Given the description of an element on the screen output the (x, y) to click on. 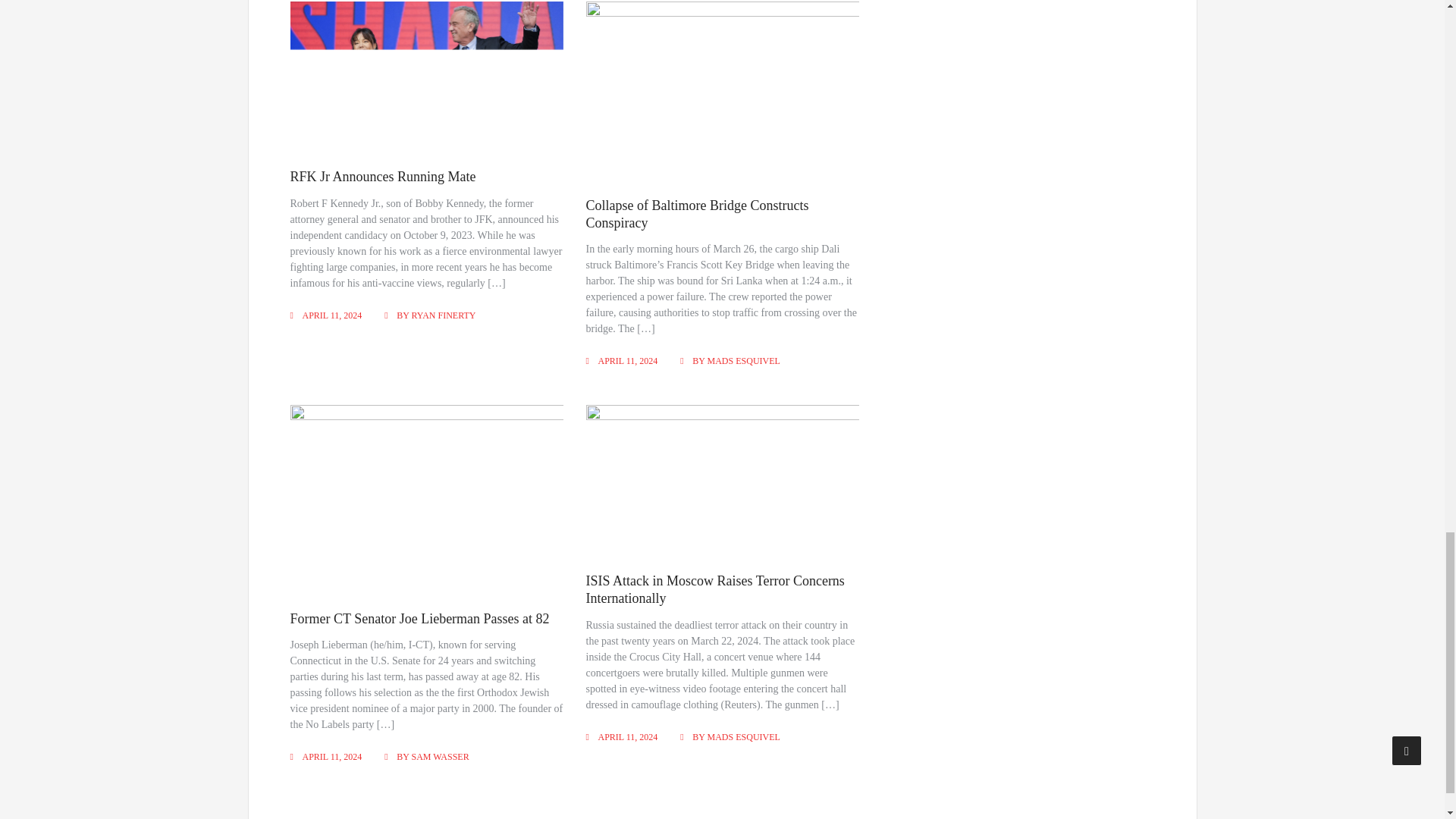
APRIL 11, 2024 (331, 315)
APRIL 11, 2024 (628, 360)
RFK Jr Announces Running Mate (382, 176)
RYAN FINERTY (444, 315)
Collapse of Baltimore Bridge Constructs Conspiracy (697, 214)
